Given the description of an element on the screen output the (x, y) to click on. 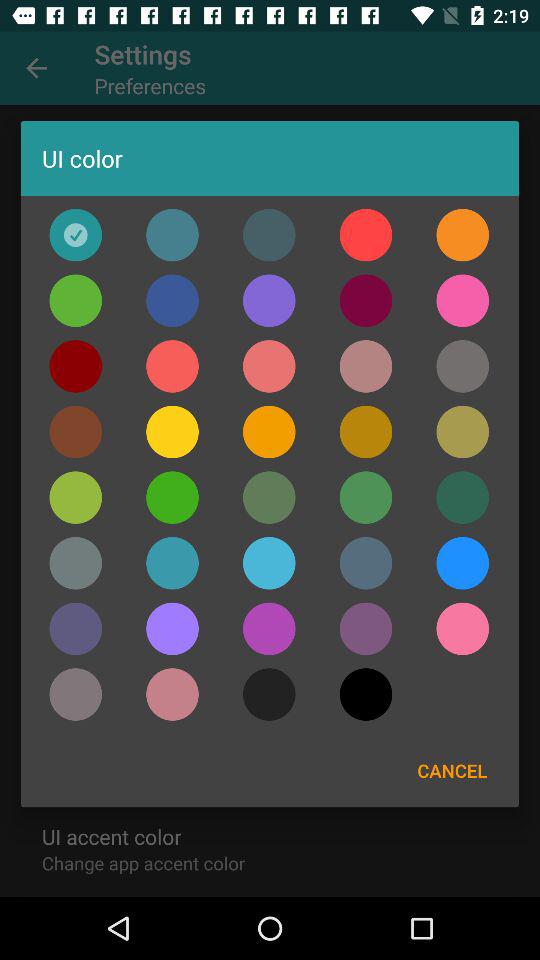
select ui color blue (462, 563)
